Given the description of an element on the screen output the (x, y) to click on. 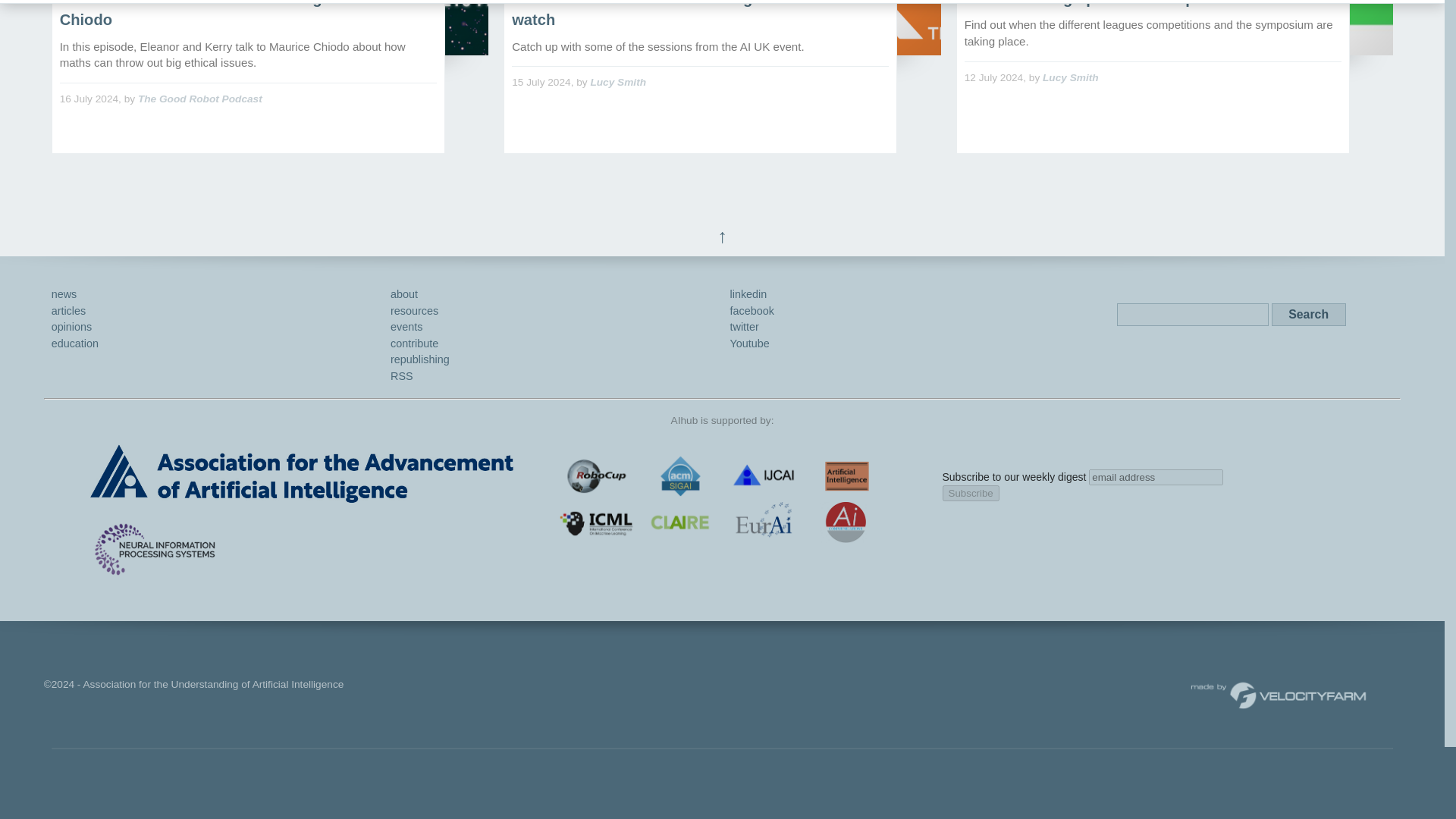
Search (1308, 314)
Search (1308, 314)
Subscribe (970, 493)
